Given the description of an element on the screen output the (x, y) to click on. 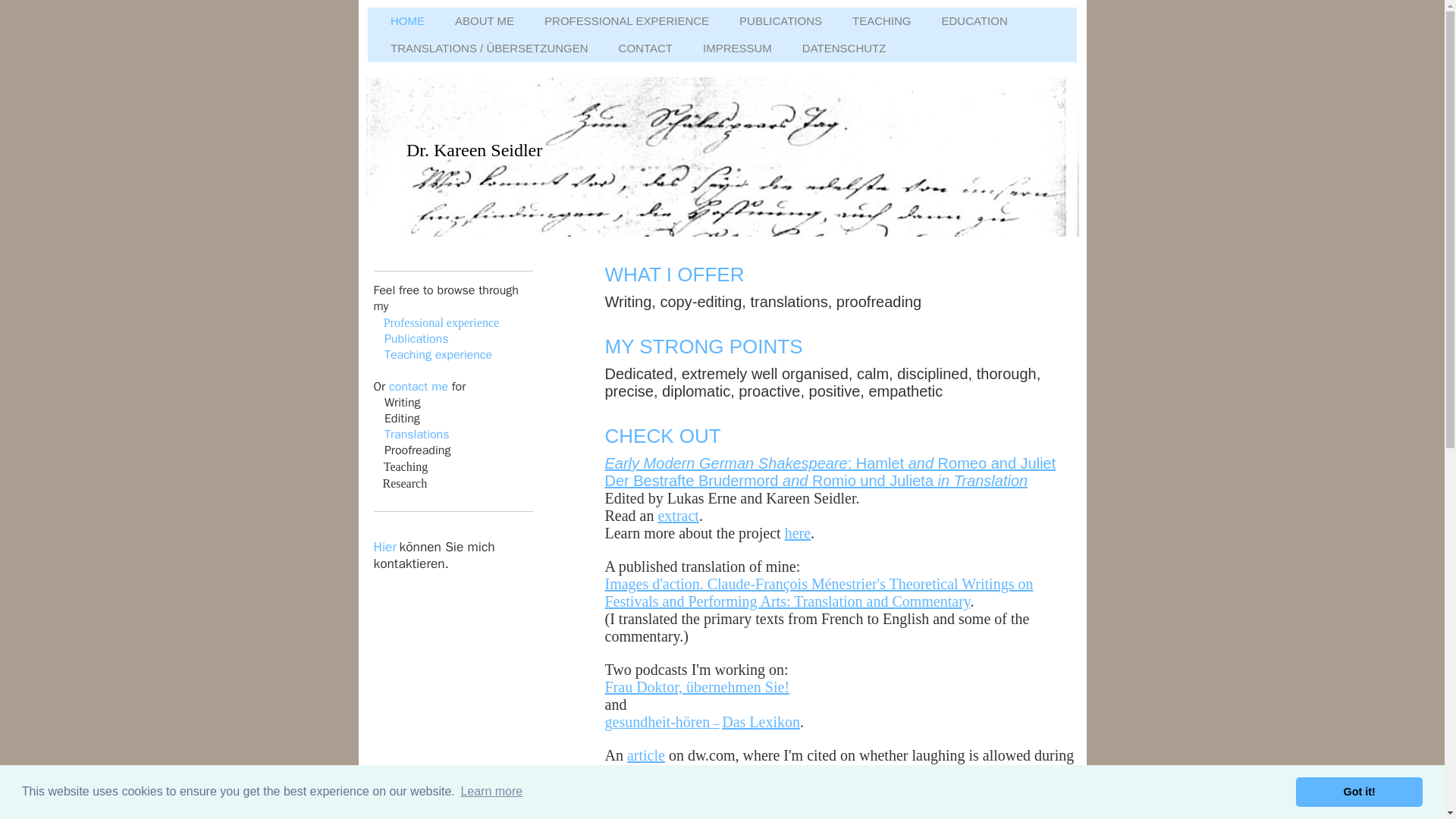
PUBLICATIONS (780, 23)
article (646, 754)
contact me (418, 386)
CONTACT (645, 51)
here (797, 532)
Teaching experience (438, 354)
Das Lexikon (760, 721)
TEACHING (881, 23)
PROFESSIONAL EXPERIENCE (626, 23)
Got it! (1358, 791)
HOME (407, 23)
extract (678, 515)
DATENSCHUTZ (844, 51)
Publications (416, 338)
